Given the description of an element on the screen output the (x, y) to click on. 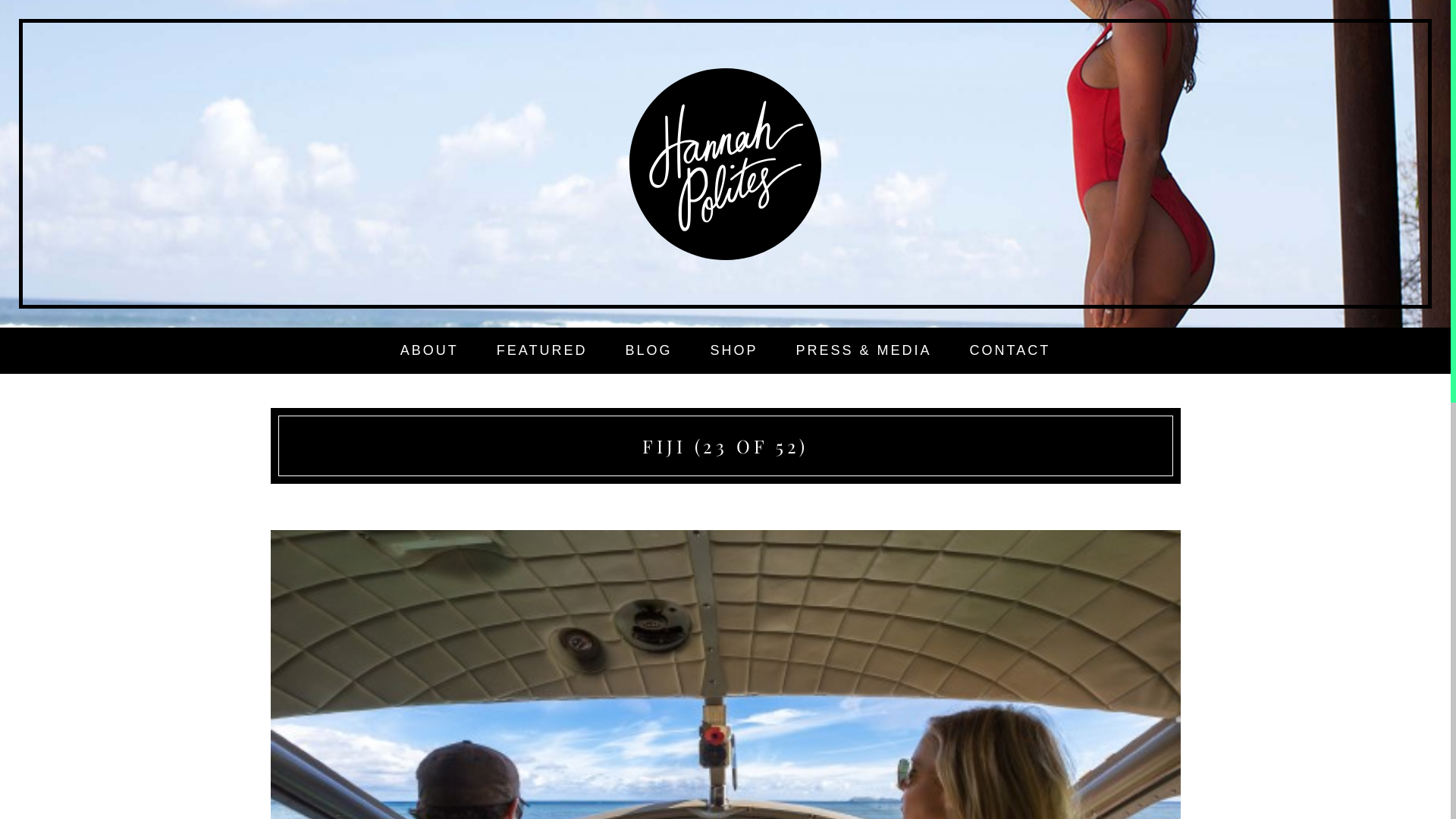
SHOP Element type: text (733, 350)
CONTACT Element type: text (1010, 350)
PRESS & MEDIA Element type: text (863, 350)
BLOG Element type: text (647, 350)
ABOUT Element type: text (429, 350)
FEATURED Element type: text (541, 350)
